Given the description of an element on the screen output the (x, y) to click on. 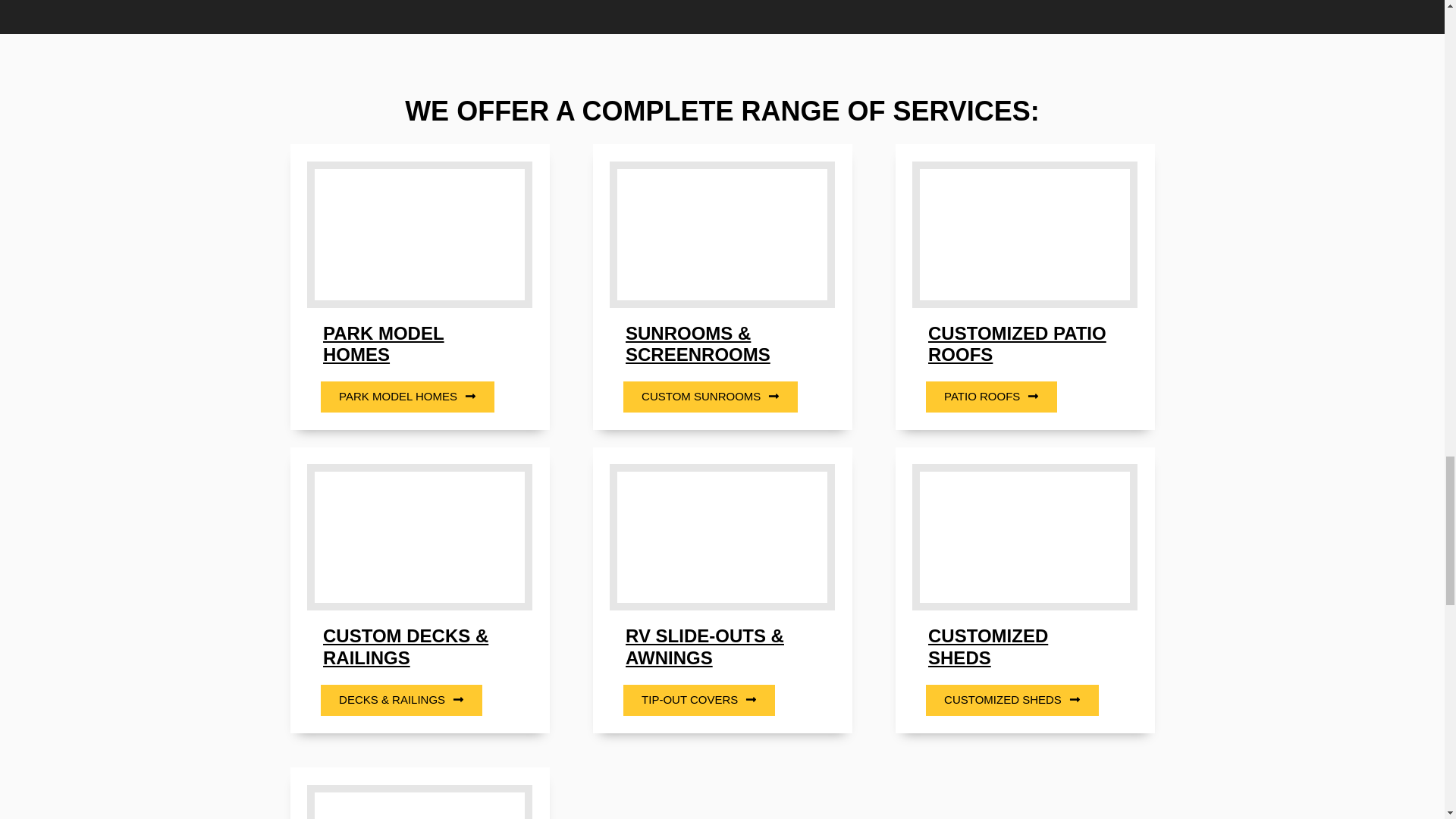
PATIO ROOFS (991, 396)
PARK MODEL HOMES (407, 396)
CUSTOMIZED PATIO ROOFS (1017, 343)
PARK MODEL HOMES (383, 343)
TIP-OUT COVERS (698, 699)
CUSTOMIZED SHEDS (1012, 699)
CUSTOMIZED SHEDS (988, 646)
CUSTOM SUNROOMS (710, 396)
